Given the description of an element on the screen output the (x, y) to click on. 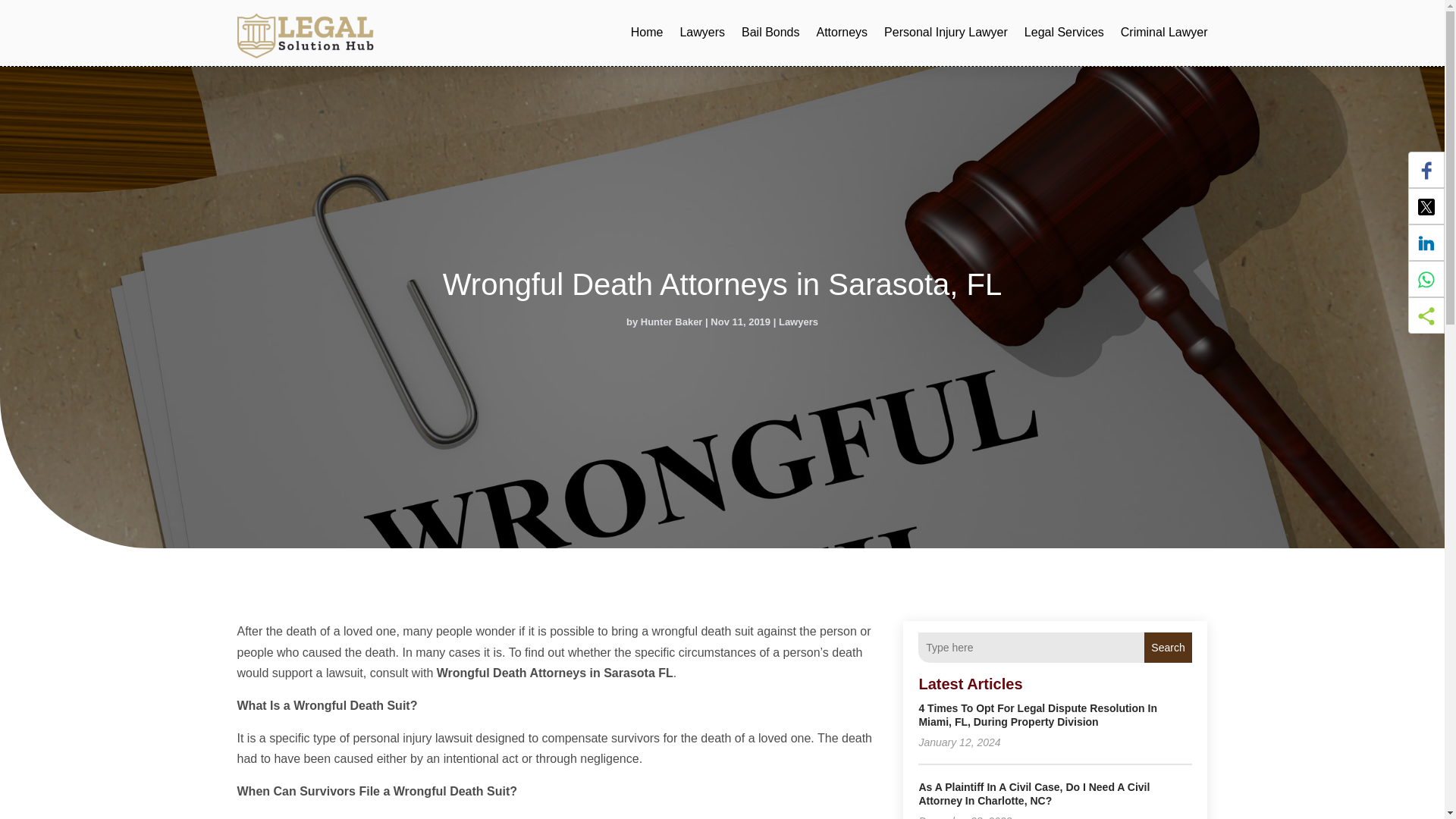
Hunter Baker (671, 321)
Personal Injury Lawyer (945, 33)
Search (1168, 647)
Lawyers (798, 321)
Criminal Lawyer (1164, 33)
Legal Services (1064, 33)
Posts by Hunter Baker (671, 321)
